Given the description of an element on the screen output the (x, y) to click on. 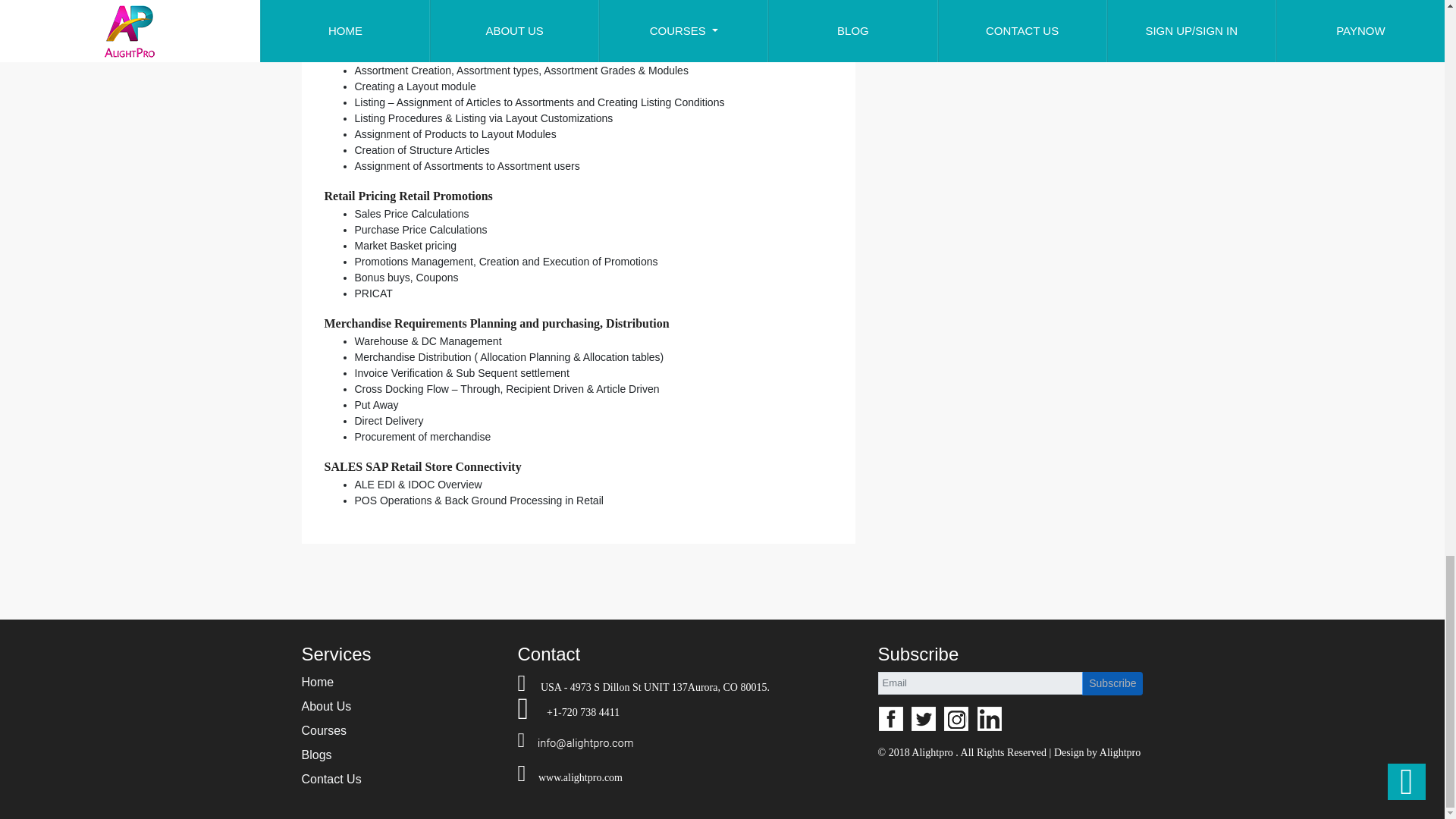
About Us (326, 706)
Subscribe (1111, 683)
Blogs (316, 754)
Courses (324, 730)
Home (317, 681)
Contact Us (331, 779)
Subscribe (1111, 683)
